Given the description of an element on the screen output the (x, y) to click on. 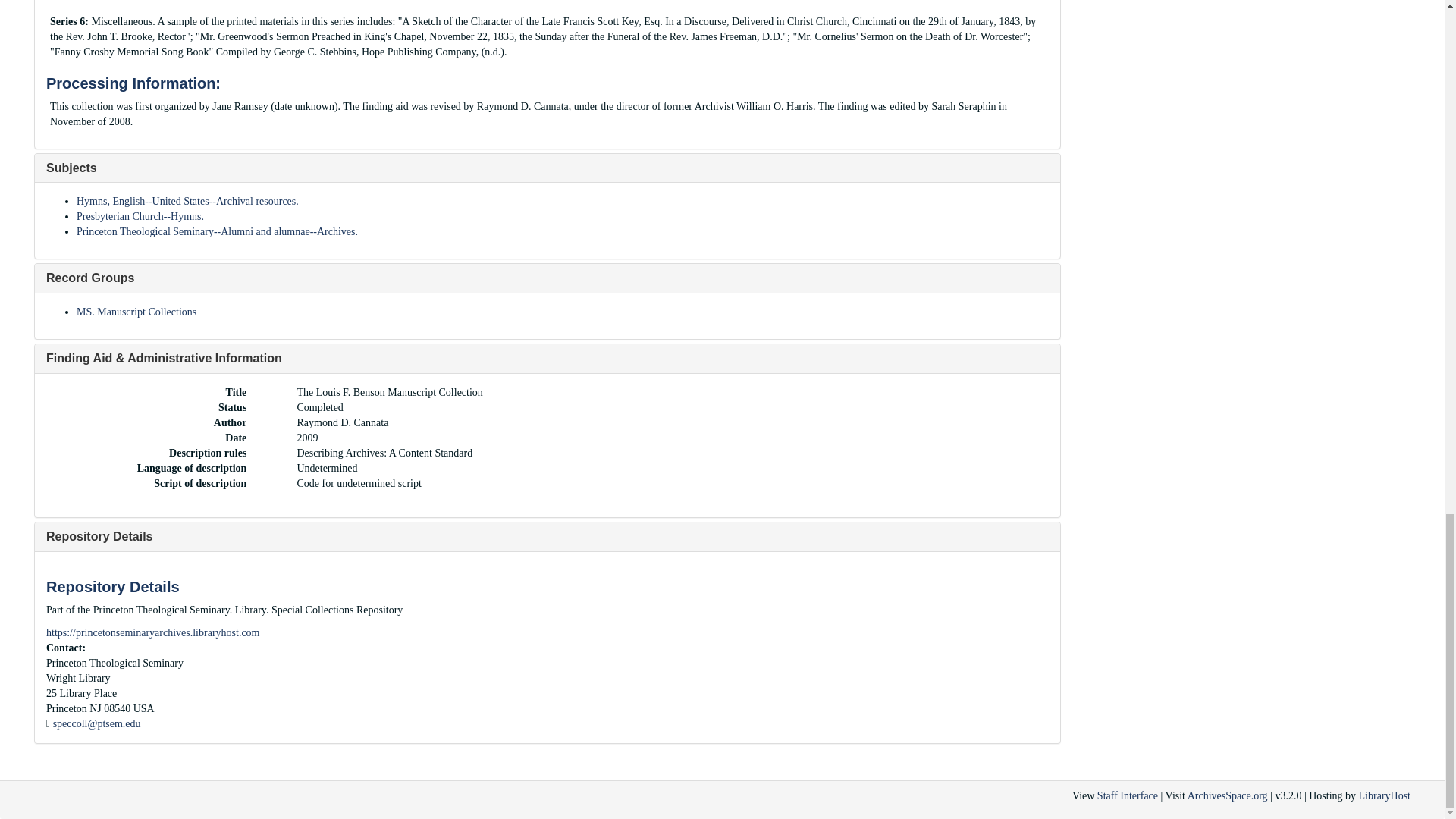
Send email (96, 723)
Record Groups (89, 277)
Subjects (71, 167)
MS. Manuscript Collections (136, 311)
Presbyterian Church--Hymns. (140, 215)
Hymns, English--United States--Archival resources. (187, 201)
Repository Details (99, 535)
